Given the description of an element on the screen output the (x, y) to click on. 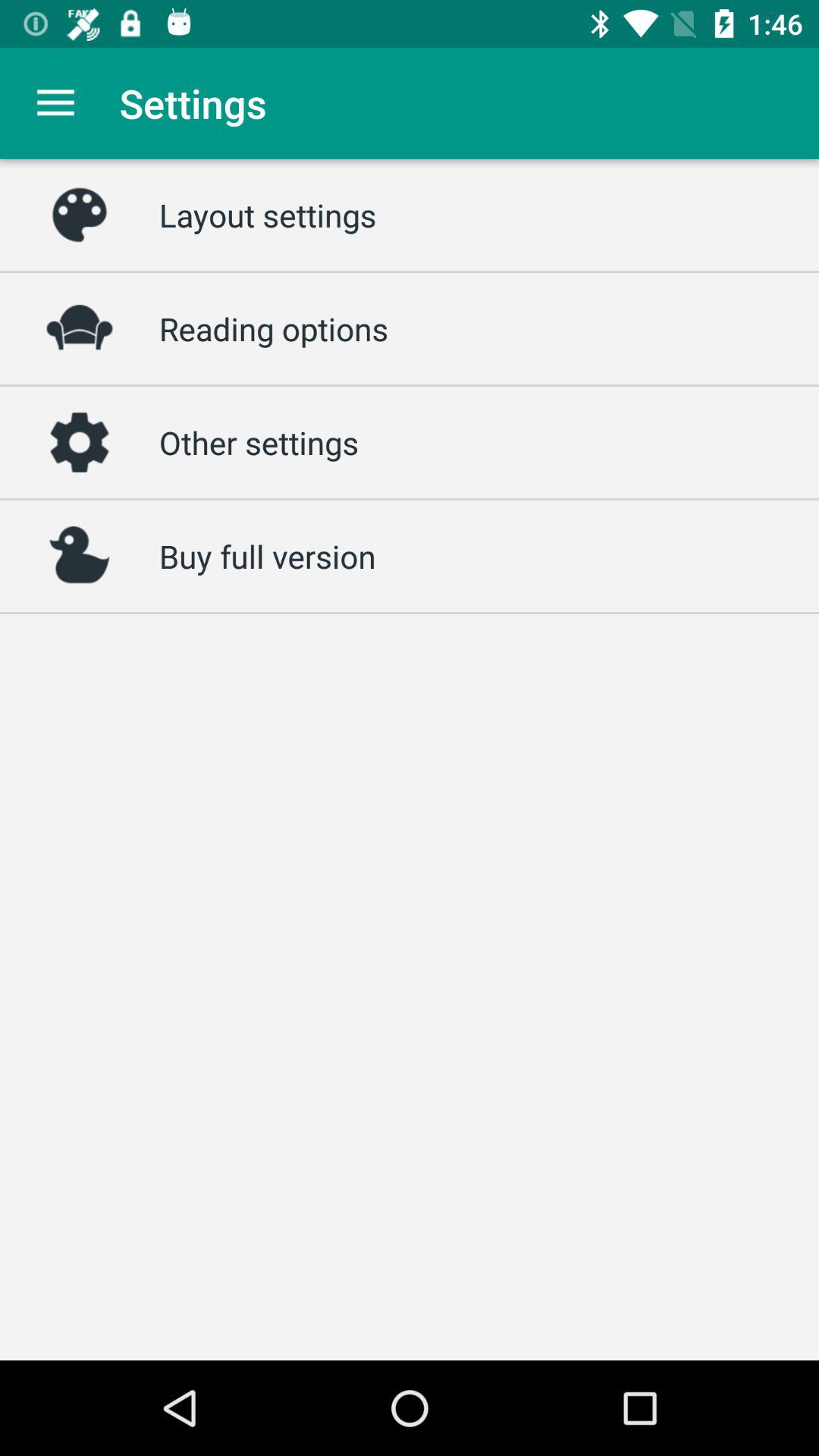
click the item above buy full version (258, 442)
